Given the description of an element on the screen output the (x, y) to click on. 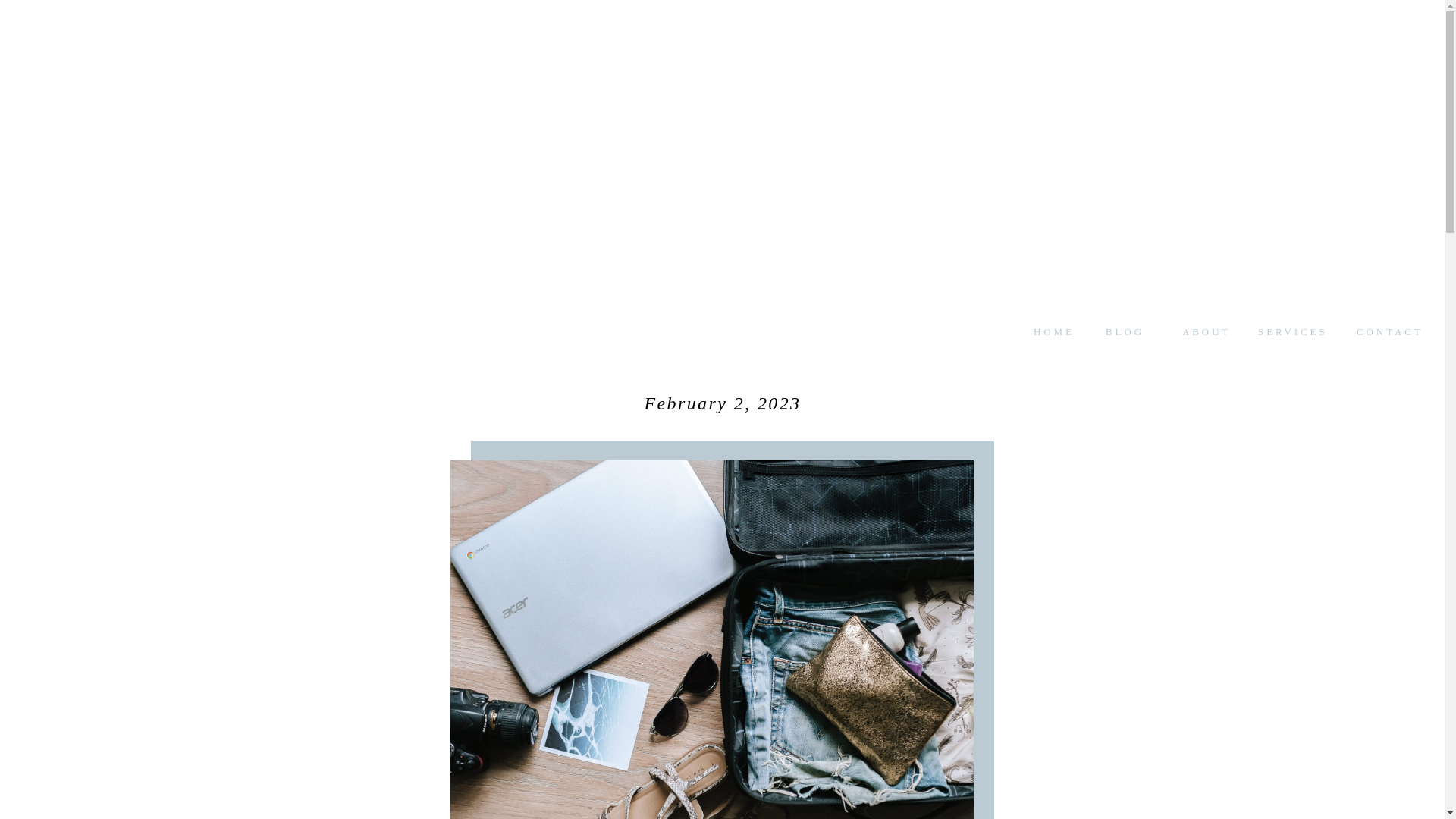
CONTACT (1389, 331)
ABOUT (1206, 331)
HOME (1053, 331)
BLOG (1129, 331)
SERVICES (1293, 331)
